Given the description of an element on the screen output the (x, y) to click on. 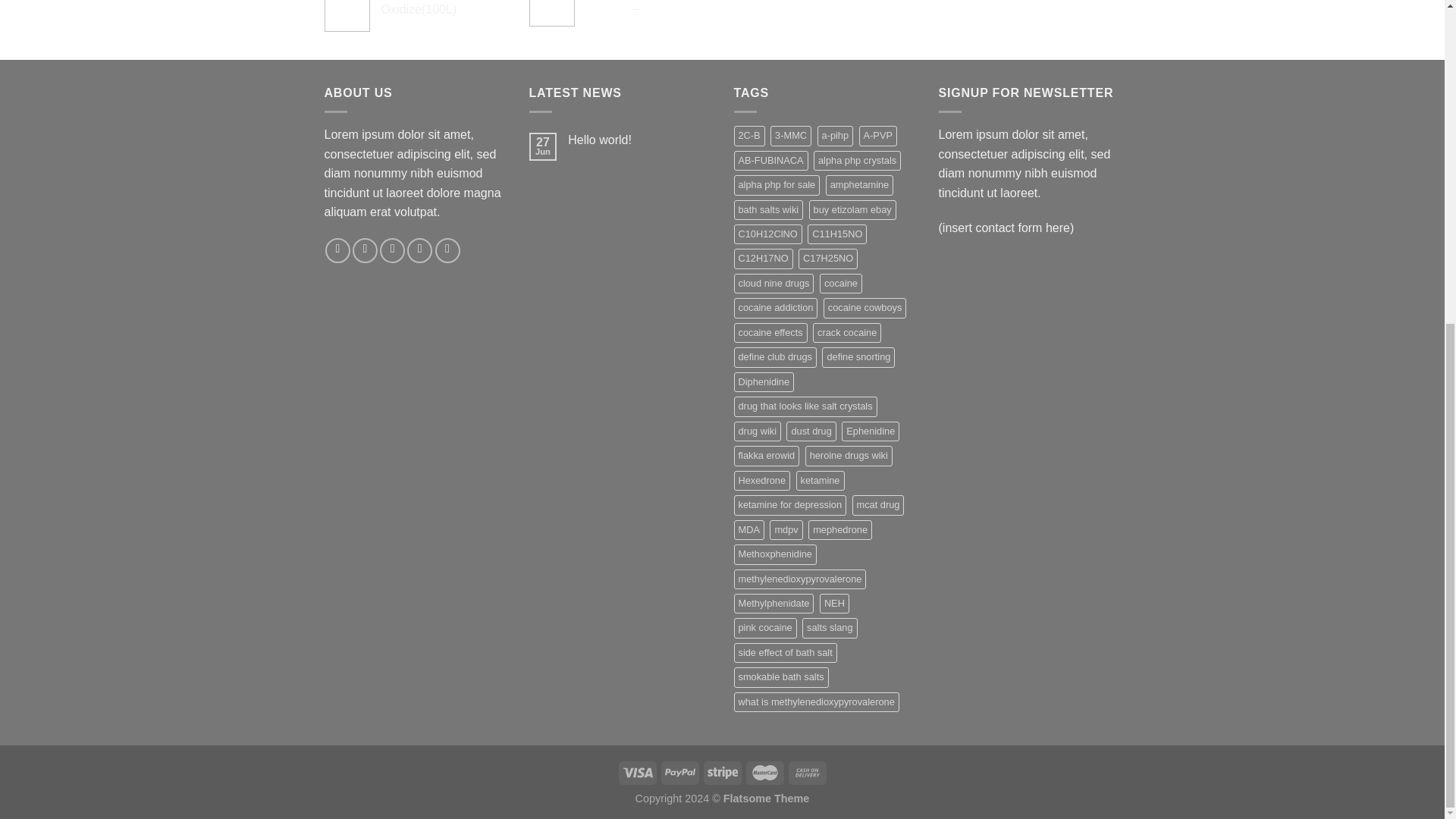
2C-B (749, 135)
a-pihp (834, 135)
Send us an email (419, 250)
bath salts wiki (768, 209)
Follow on Facebook (337, 250)
Follow on Twitter (392, 250)
alpha php crystals (857, 160)
Hello world! (638, 139)
Follow on Instagram (364, 250)
Follow on Pinterest (447, 250)
AB-FUBINACA (770, 160)
alpha php for sale (777, 184)
3-MMC (790, 135)
Hello world! (638, 139)
A-PVP (877, 135)
